Given the description of an element on the screen output the (x, y) to click on. 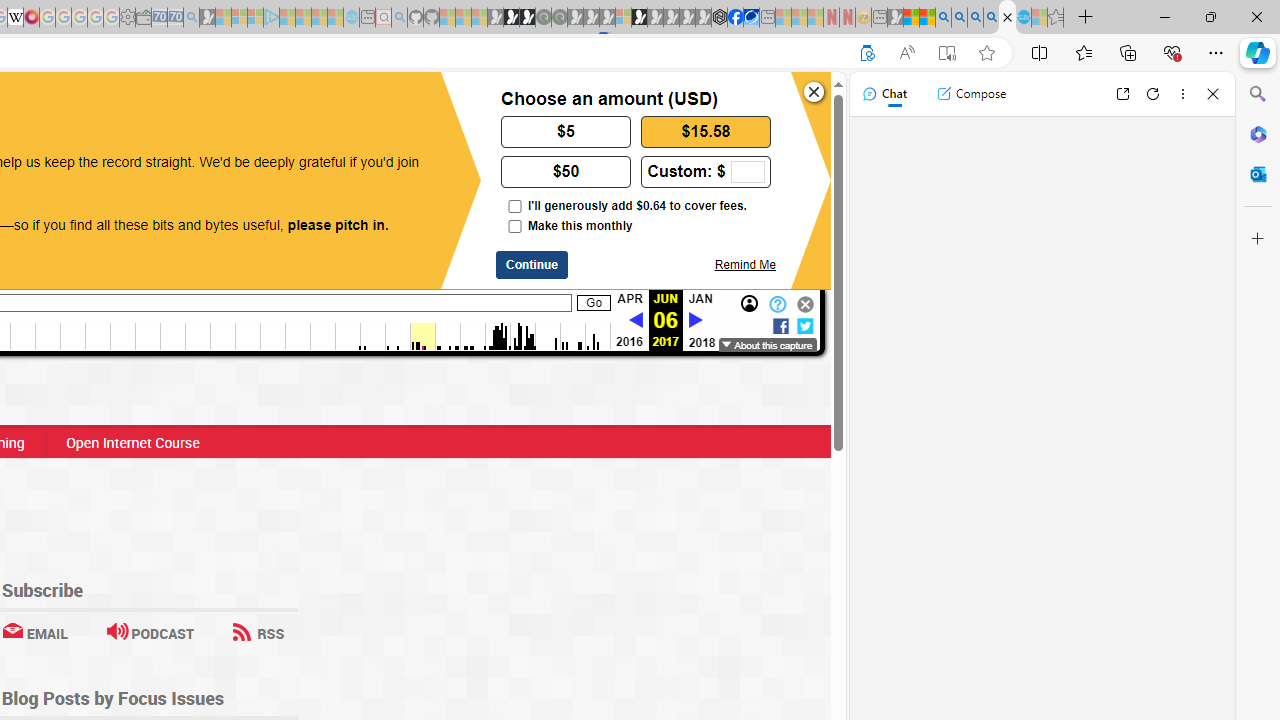
Open Internet Course (132, 442)
f (780, 324)
MediaWiki (31, 17)
ACT NOW (97, 108)
Future Focus Report 2024 - Sleeping (559, 17)
AutomationID: custom-amount-input (747, 171)
